Given the description of an element on the screen output the (x, y) to click on. 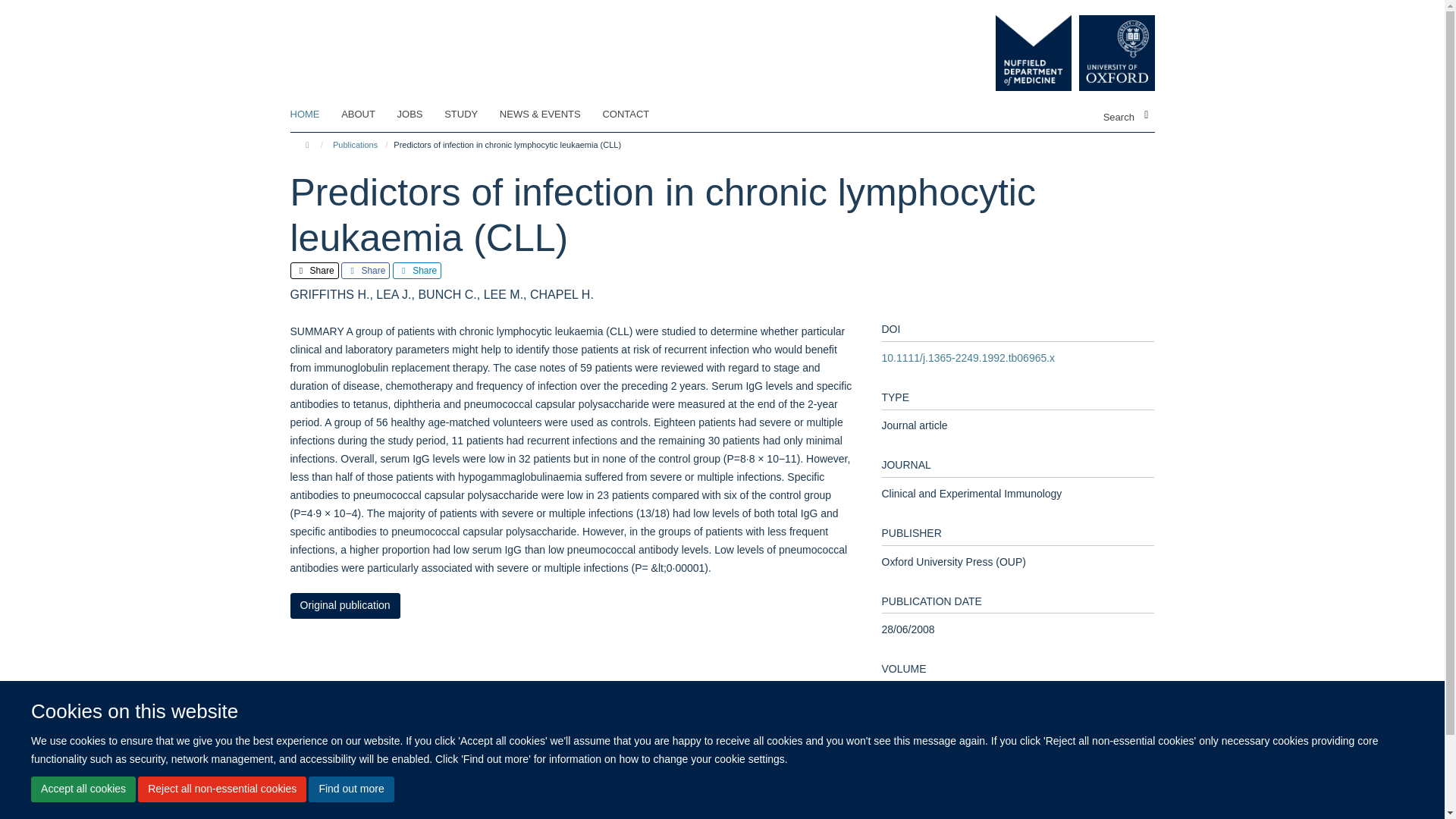
Find out more (350, 789)
ABOUT (367, 114)
Accept all cookies (82, 789)
HOME (313, 114)
Reject all non-essential cookies (221, 789)
